Given the description of an element on the screen output the (x, y) to click on. 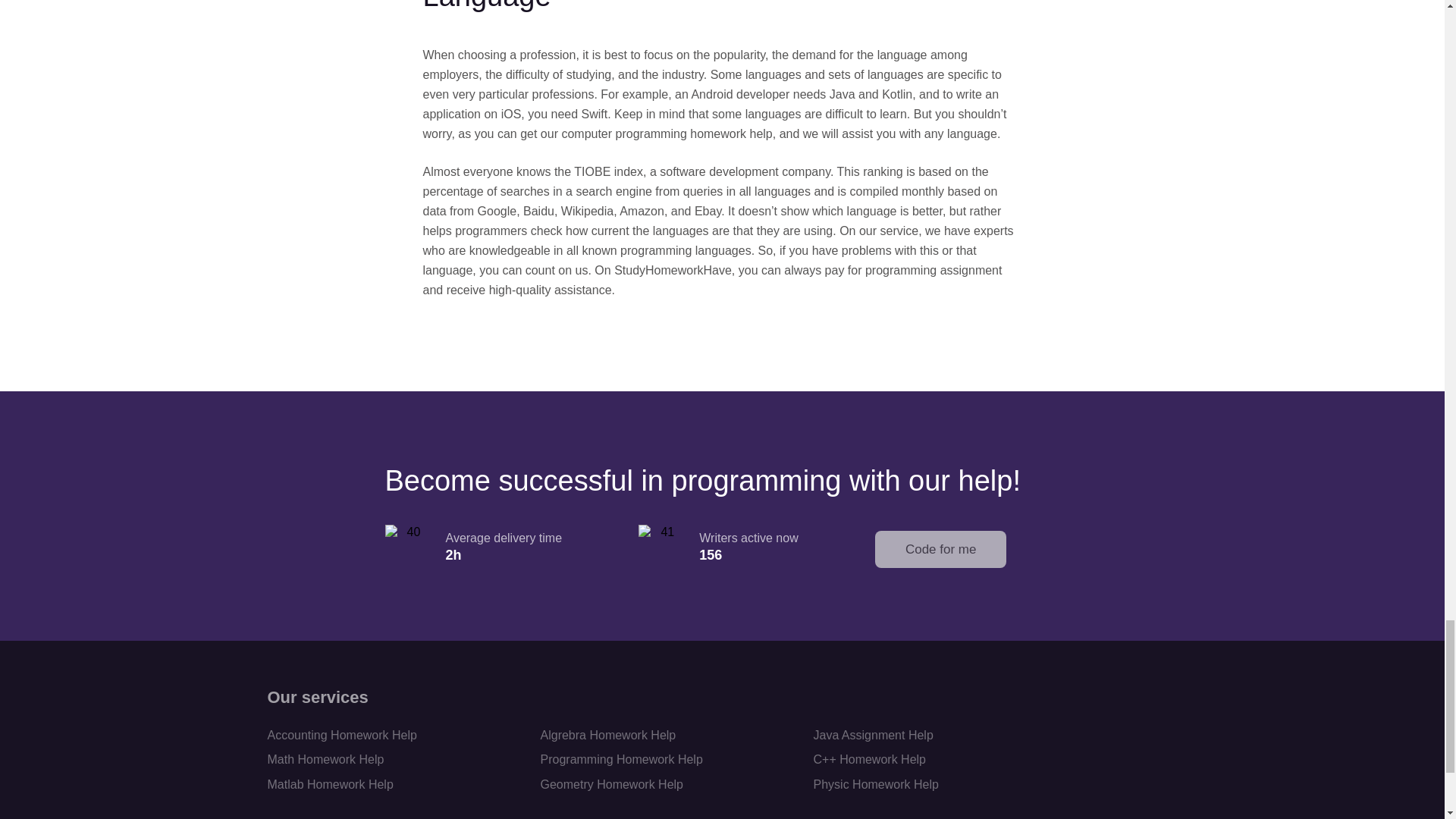
Algrebra Homework Help (607, 735)
Geometry Homework Help (611, 784)
Accounting Homework Help (341, 735)
Java Assignment Help (872, 735)
Physic Homework Help (874, 784)
Matlab Homework Help (329, 784)
Math Homework Help (325, 758)
Programming Homework Help (620, 758)
Code for me (941, 549)
